Given the description of an element on the screen output the (x, y) to click on. 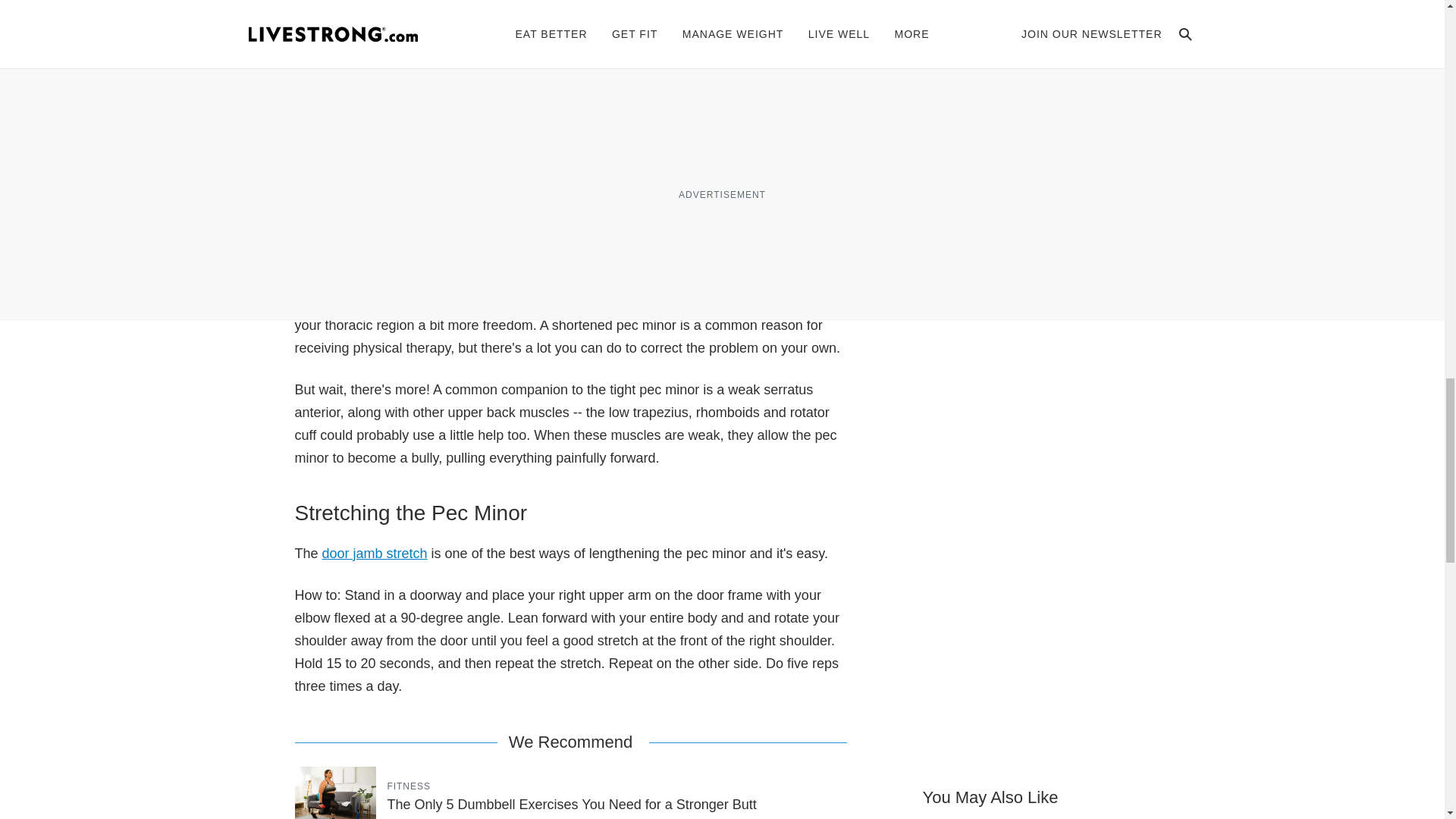
5 Fun Exercises That Will Make Your Workouts Feel Like Play (1042, 161)
The Only 5 Dumbbell Exercises You Need for a Stronger Butt (571, 804)
Pectoralis Minor Stretches (449, 183)
5 Fun Exercises That Will Make Your Workouts Feel Like Play (1042, 161)
door jamb stretch (374, 553)
